Given the description of an element on the screen output the (x, y) to click on. 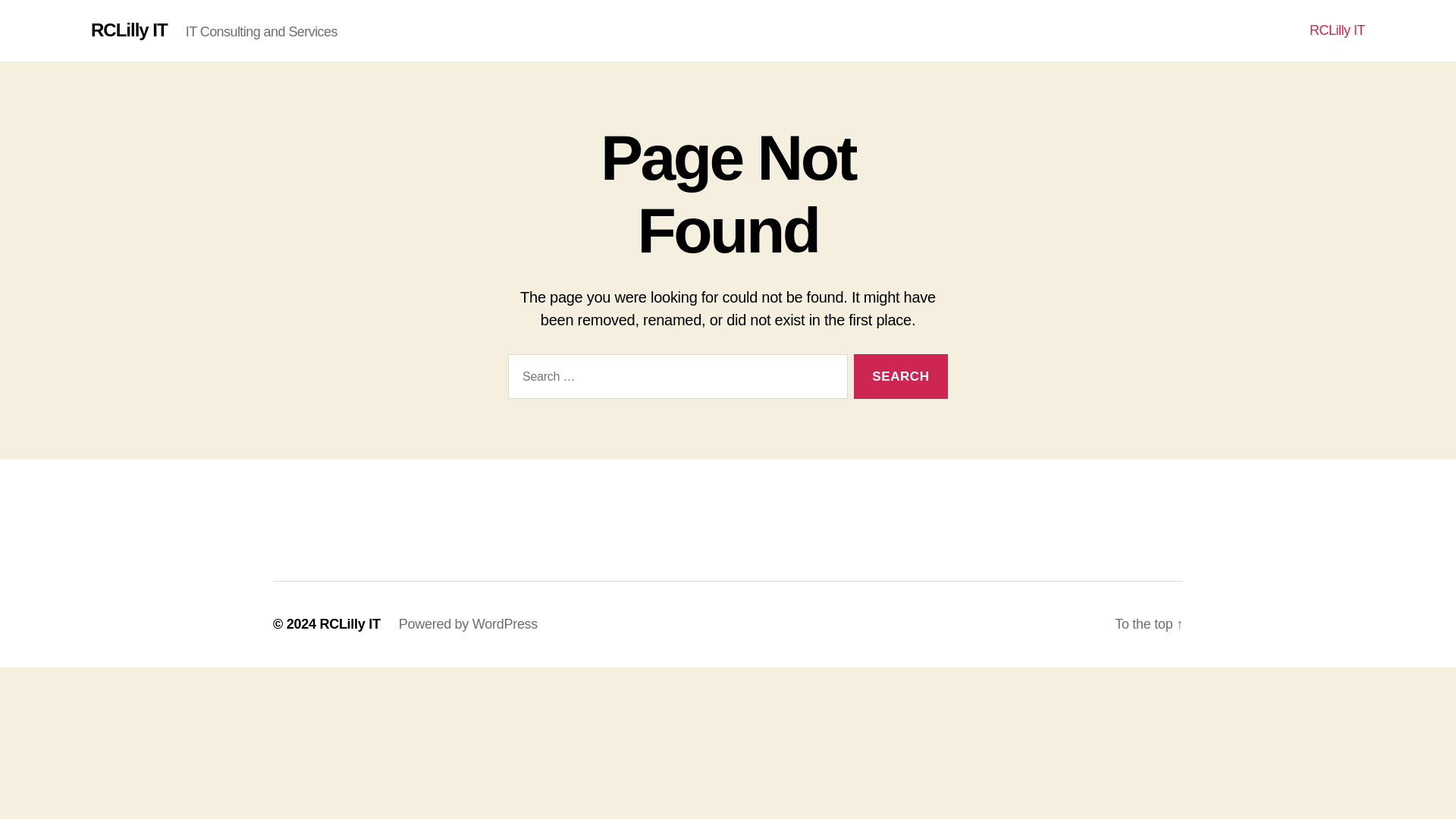
Search (900, 375)
Search (900, 375)
Powered by WordPress (467, 623)
RCLilly IT (349, 623)
RCLilly IT (1336, 30)
RCLilly IT (128, 30)
Search (900, 375)
